Given the description of an element on the screen output the (x, y) to click on. 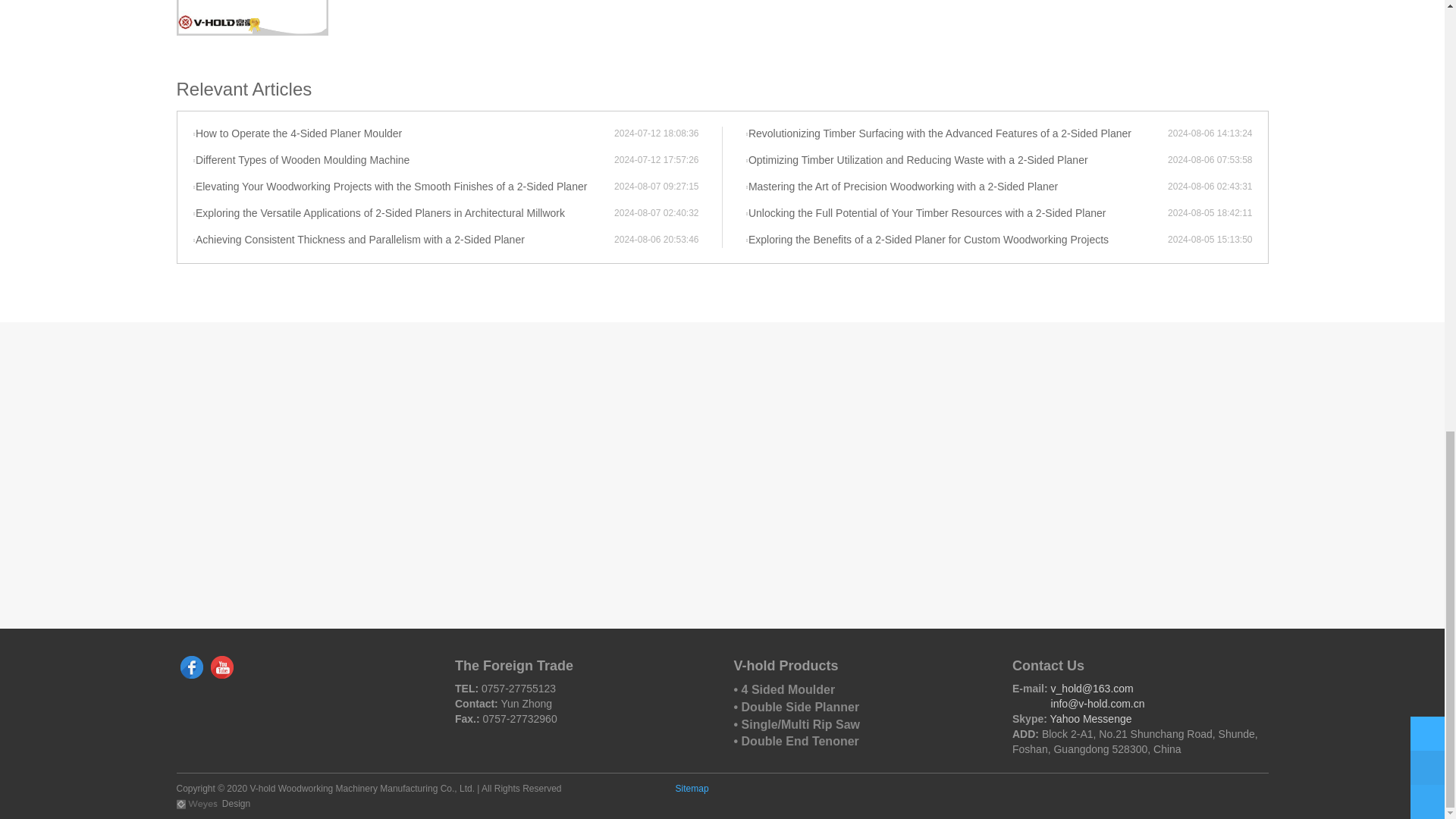
Different Types of Wooden Moulding Machine (403, 160)
How to Operate the 4-Sided Planer Moulder (403, 133)
